Given the description of an element on the screen output the (x, y) to click on. 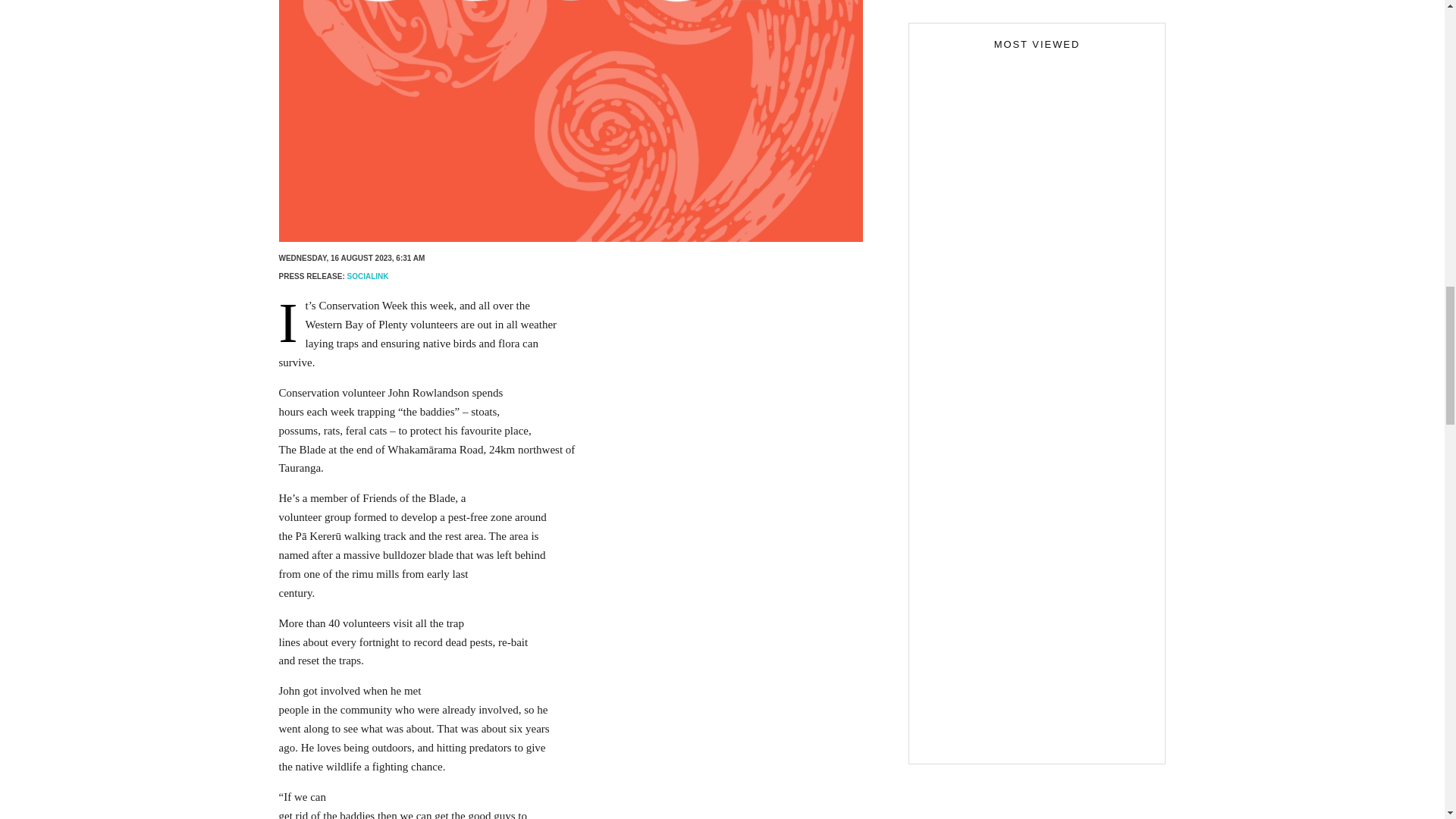
SOCIALINK (367, 275)
